Given the description of an element on the screen output the (x, y) to click on. 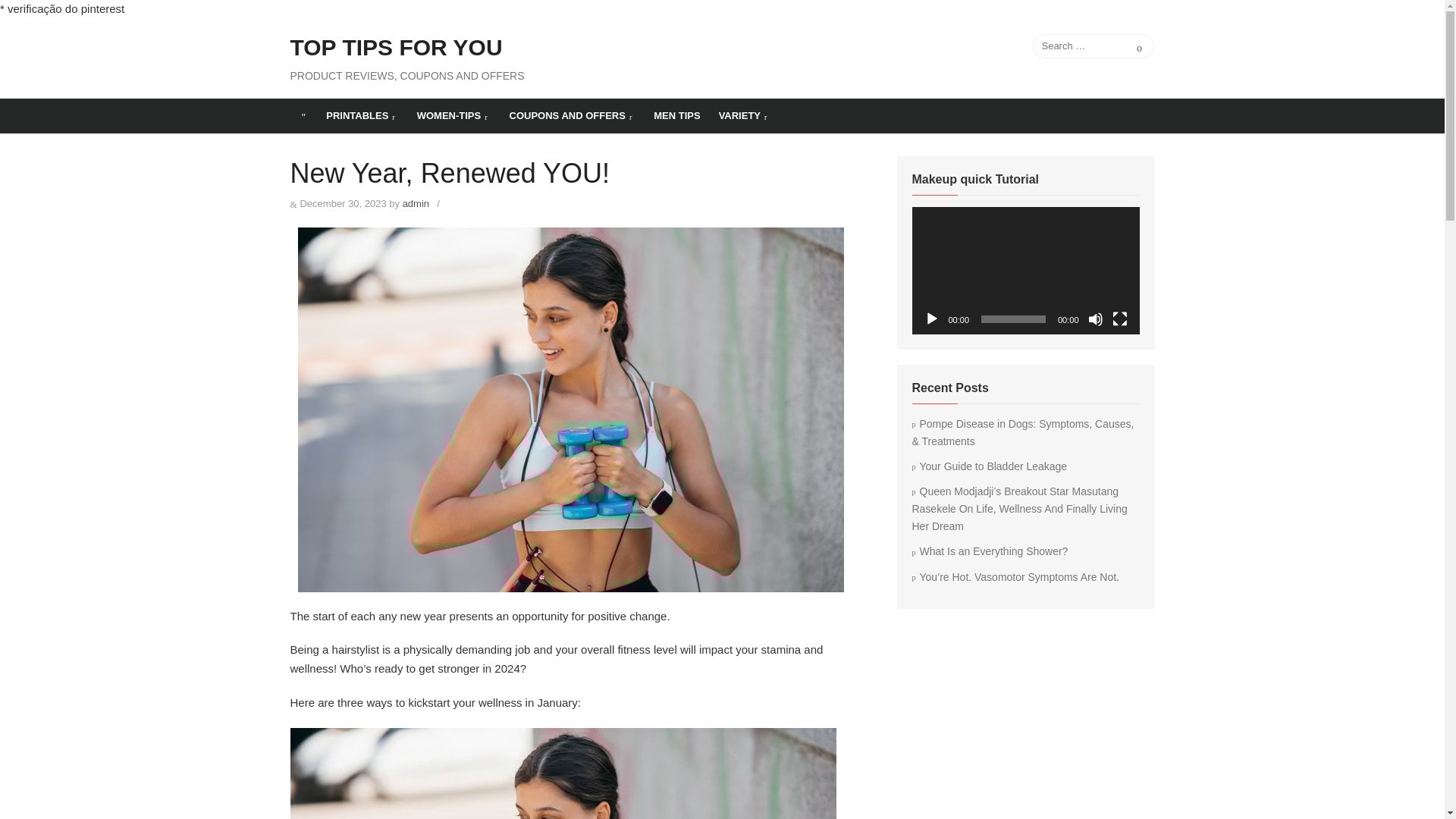
Fullscreen (1119, 319)
Play (931, 319)
Mute (1094, 319)
TOP TIPS FOR YOU (395, 47)
WOMEN-TIPS (453, 115)
COUPONS AND OFFERS (572, 115)
PRINTABLES (362, 115)
